Given the description of an element on the screen output the (x, y) to click on. 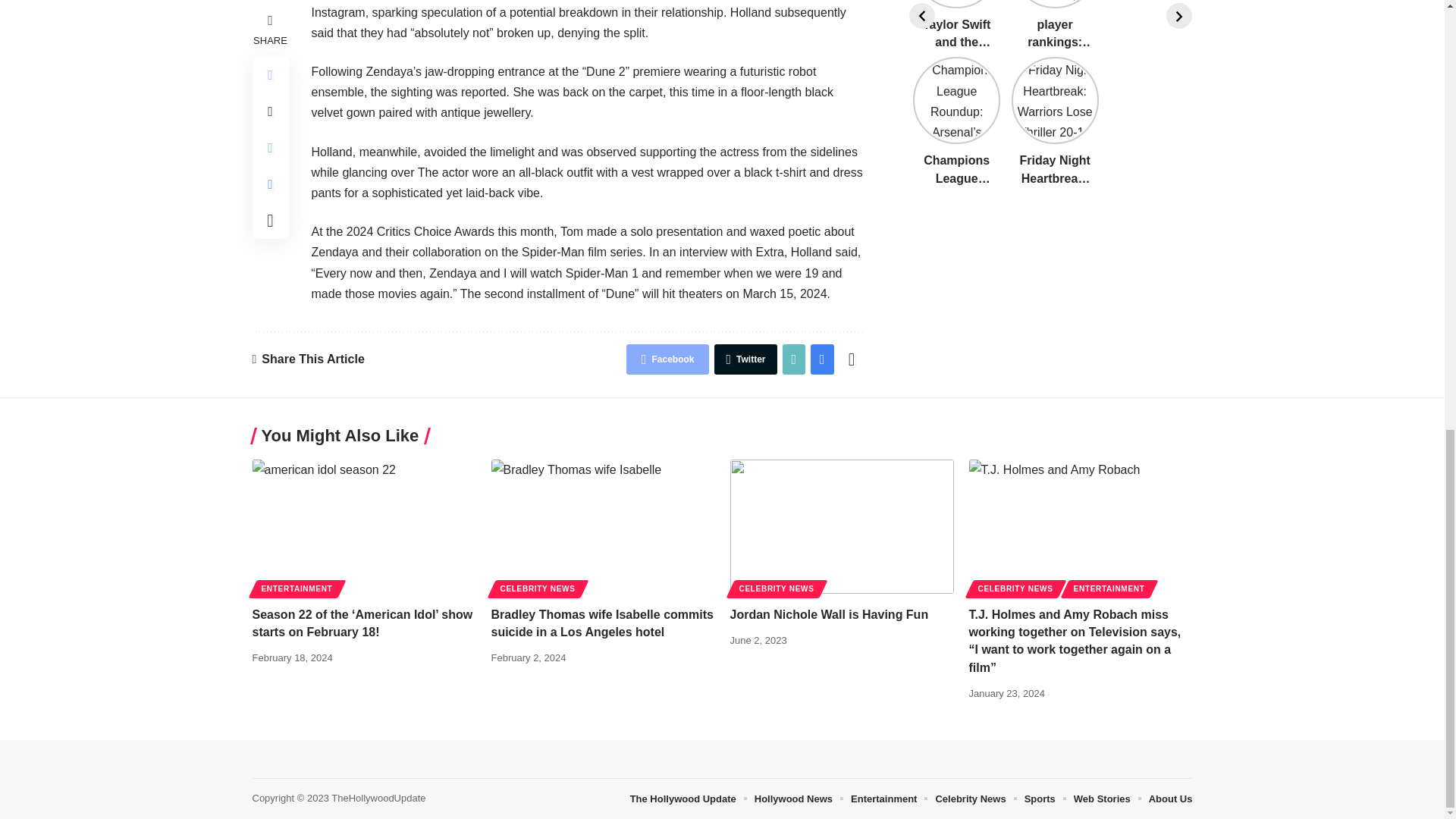
Jordan Nichole Wall is Having Fun (841, 526)
